Given the description of an element on the screen output the (x, y) to click on. 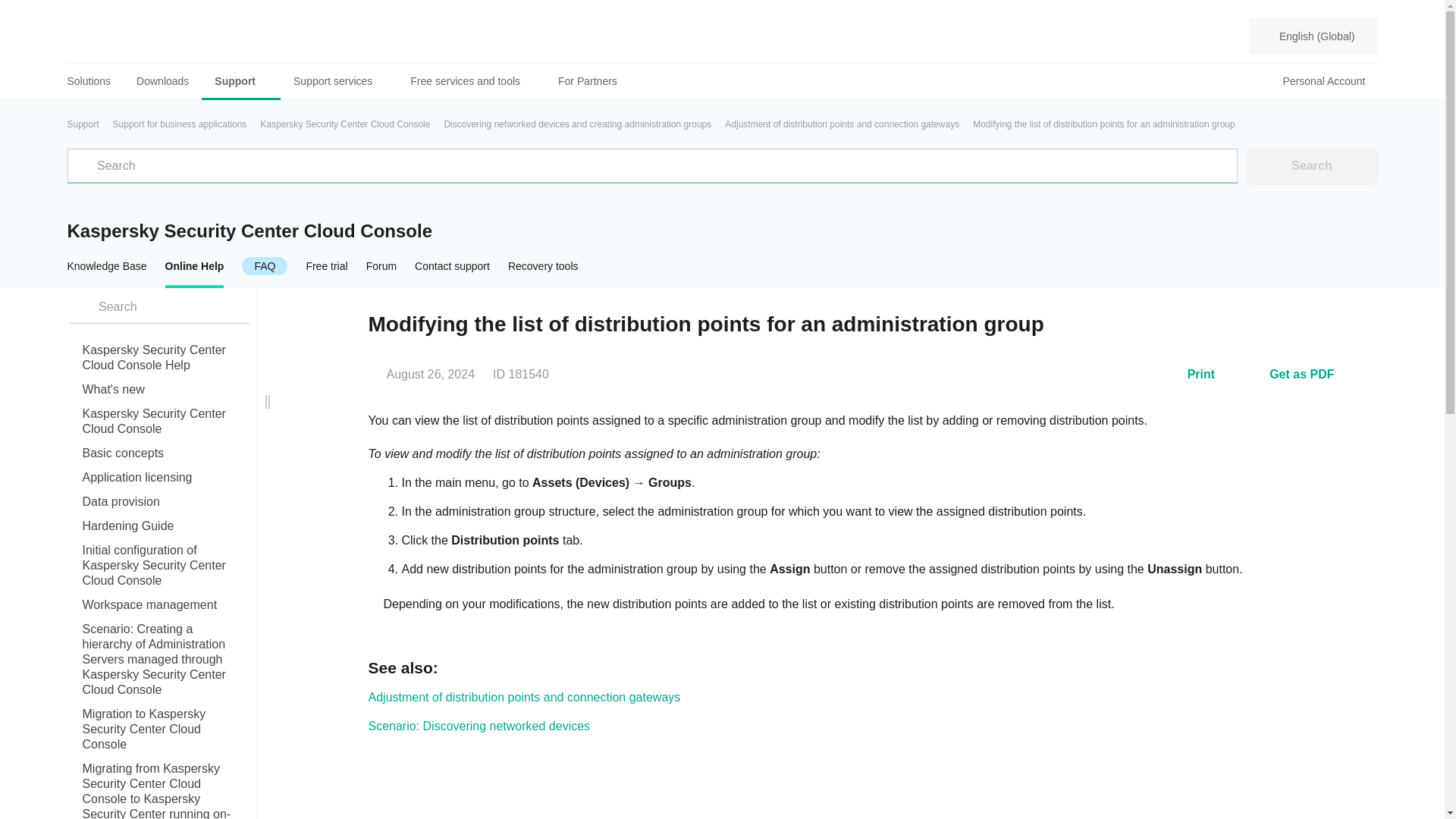
Support services (339, 81)
Free services and tools (470, 81)
product-search (158, 306)
Support (241, 81)
For Partners (587, 81)
Solutions (94, 81)
Kaspersky (122, 37)
Downloads (162, 81)
